Given the description of an element on the screen output the (x, y) to click on. 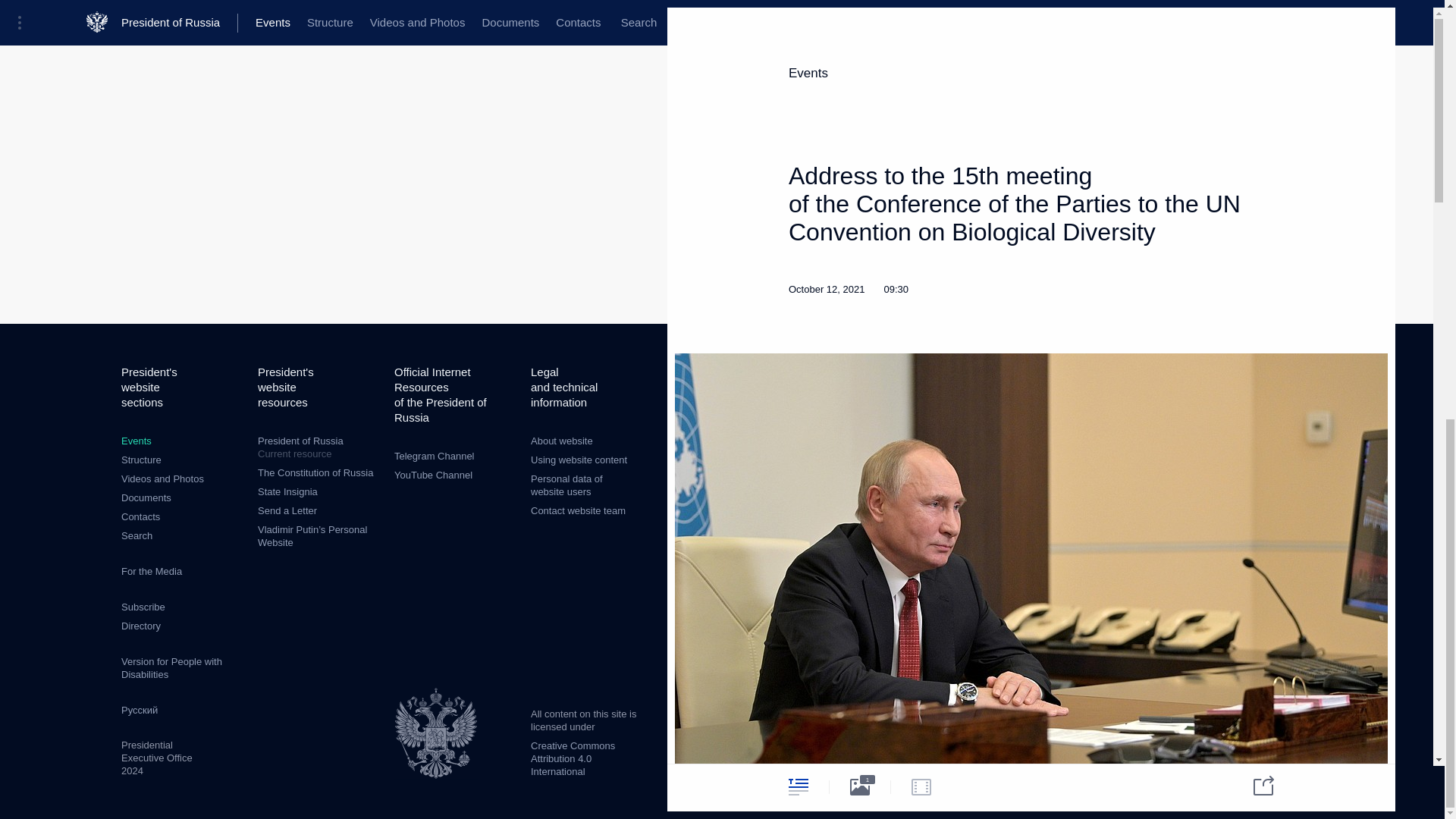
Videos and Photos (161, 478)
Events (135, 440)
State Insignia (317, 447)
The Constitution of Russia (287, 491)
Send a Letter (314, 472)
YouTube Channel (287, 510)
About website (432, 474)
Directory (561, 440)
Contacts (140, 625)
Telegram Channel (140, 516)
Search (434, 455)
Using website content (136, 535)
Subscribe (579, 460)
Version for People with Disabilities (142, 606)
